Given the description of an element on the screen output the (x, y) to click on. 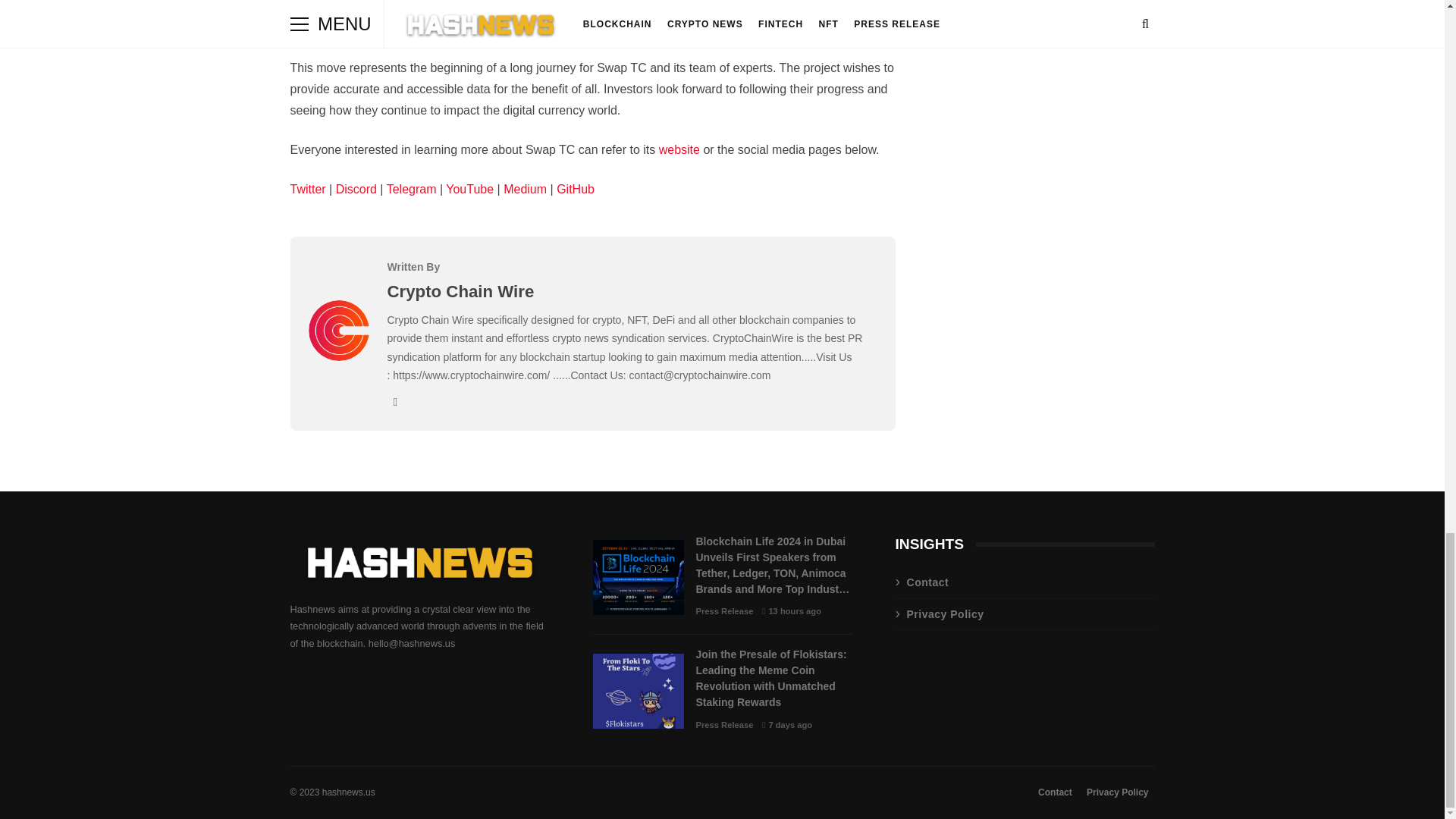
Press Release (724, 610)
YouTube (469, 188)
Crypto Chain Wire (337, 356)
Telegram (411, 188)
Press Release (724, 724)
Posts by Crypto Chain Wire (460, 291)
Crypto Chain Wire (460, 291)
Privacy Policy (1024, 613)
Discord (356, 188)
Privacy Policy (1117, 792)
Contact (1055, 792)
